Given the description of an element on the screen output the (x, y) to click on. 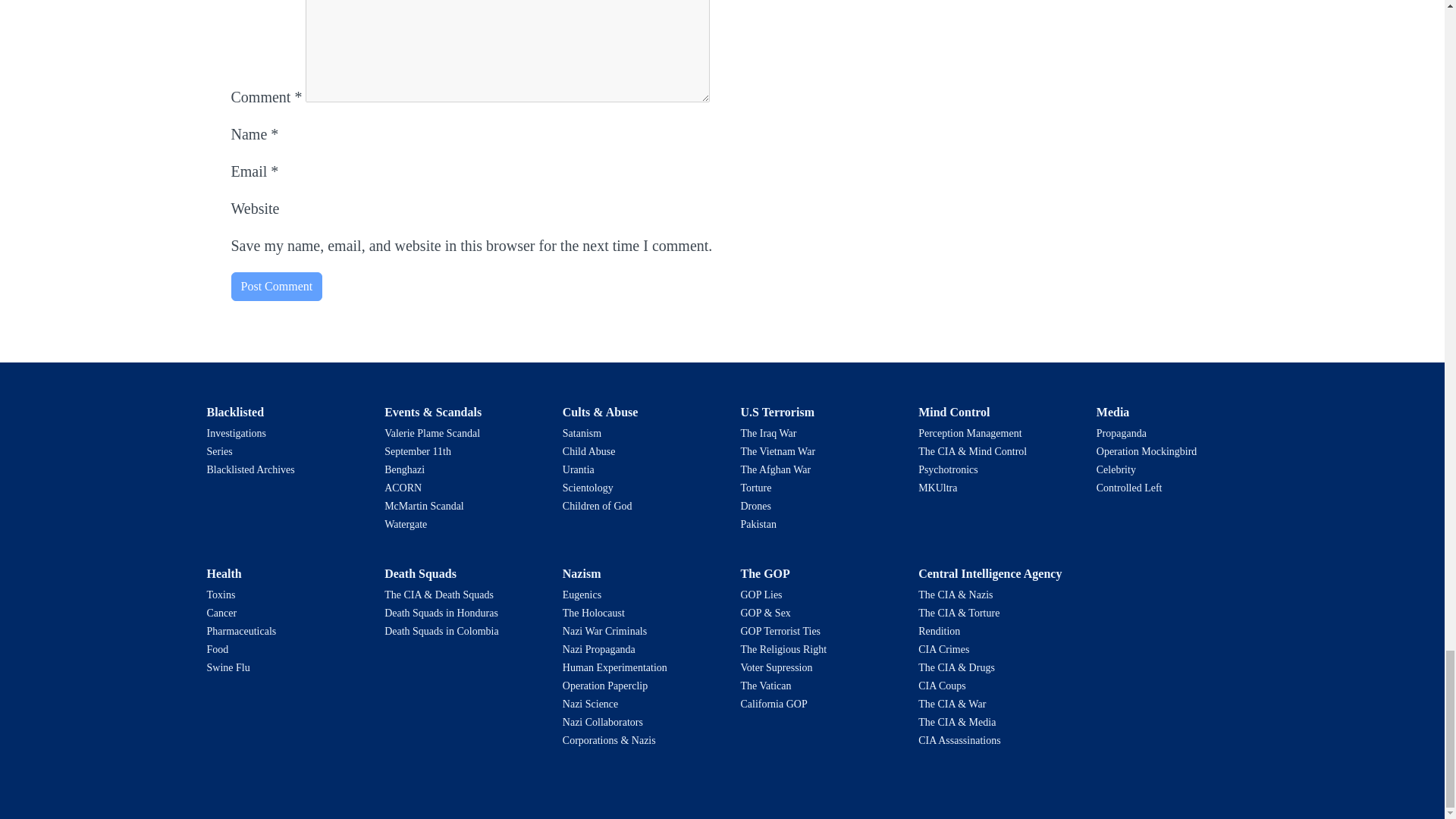
Post Comment (275, 286)
